Given the description of an element on the screen output the (x, y) to click on. 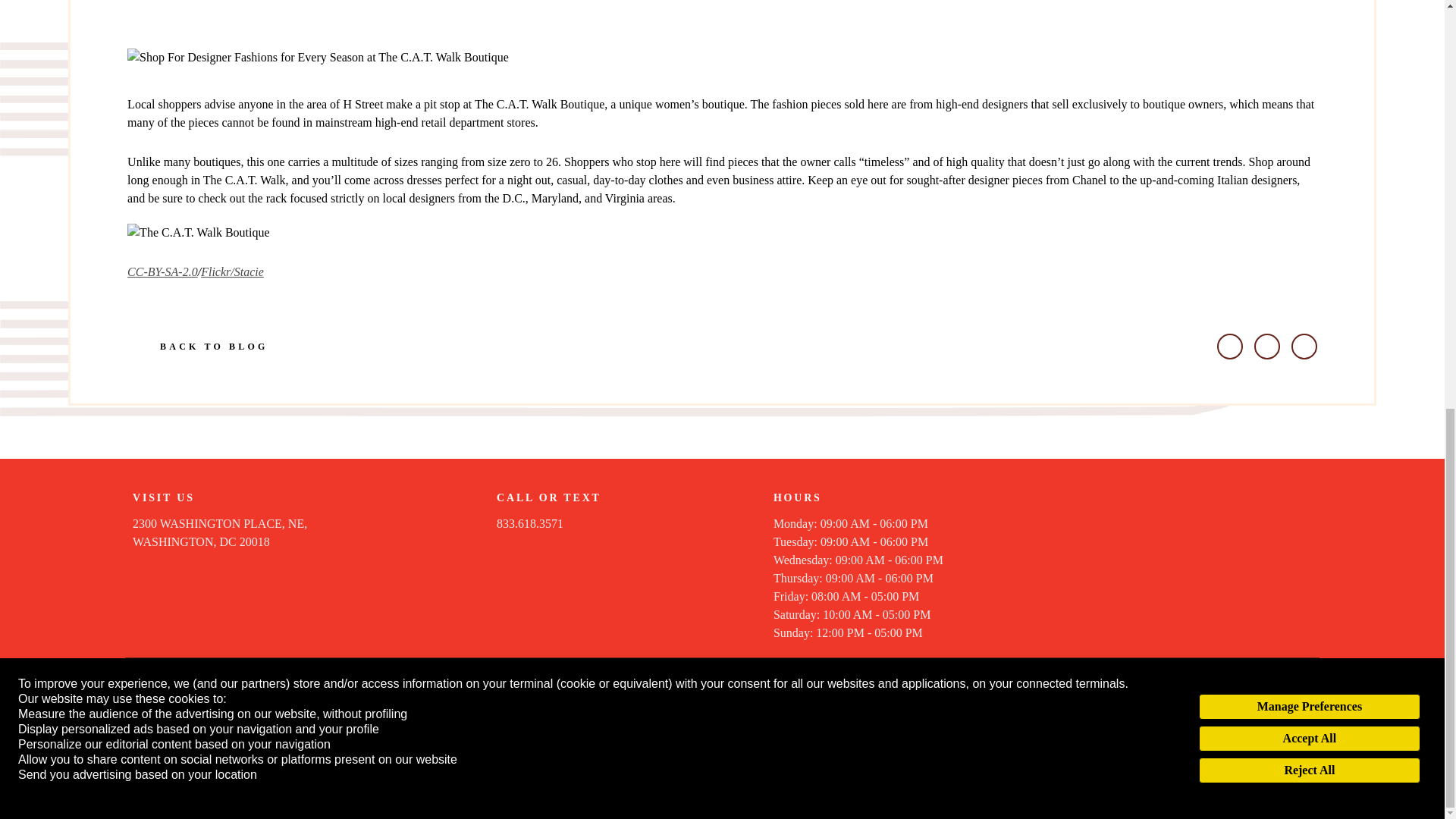
BACK TO BLOG (197, 345)
CC-BY-SA-2.0 (219, 531)
